Given the description of an element on the screen output the (x, y) to click on. 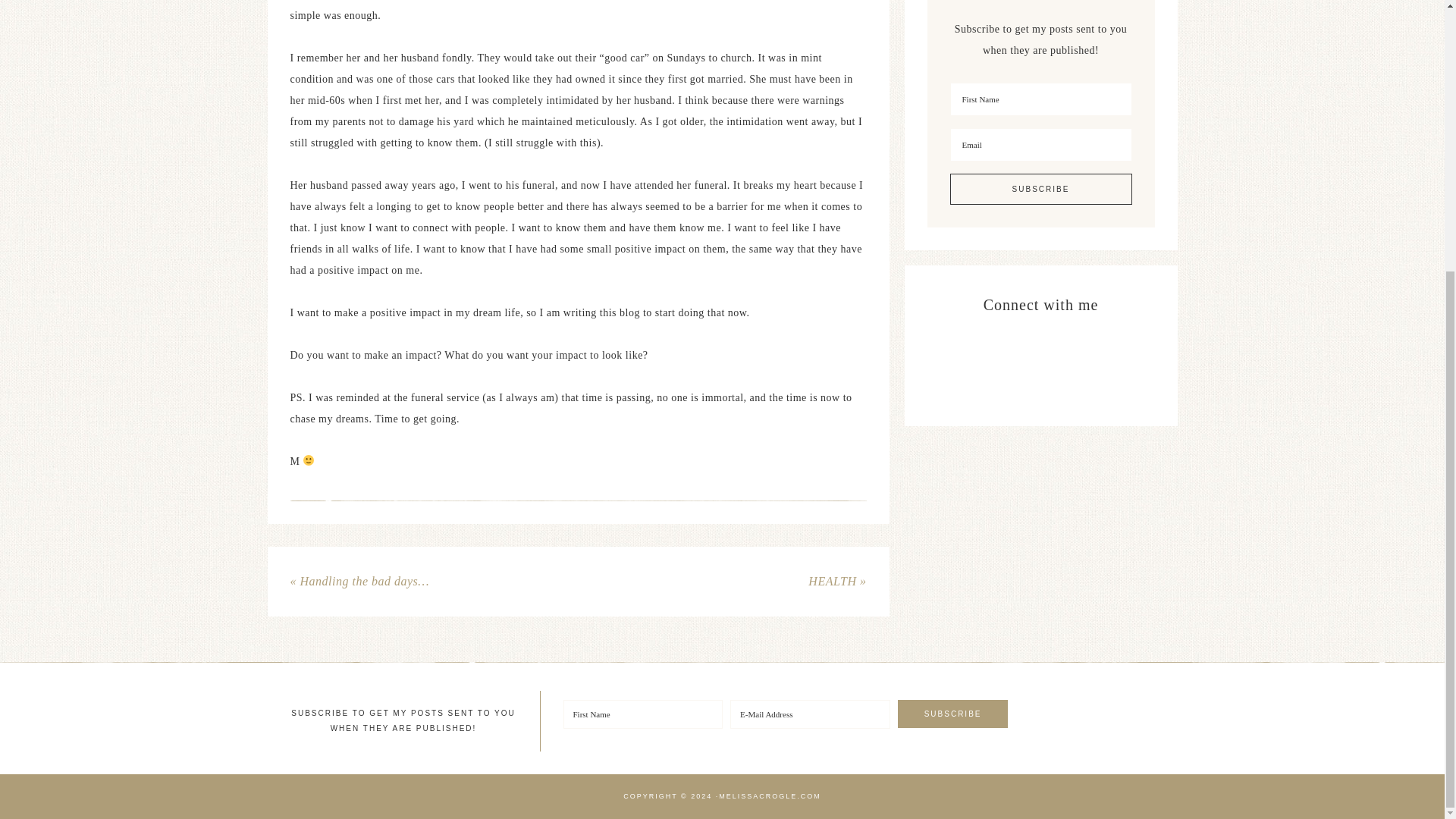
Subscribe (953, 714)
Subscribe (953, 714)
Subscribe (1040, 188)
Subscribe (1040, 188)
